Given the description of an element on the screen output the (x, y) to click on. 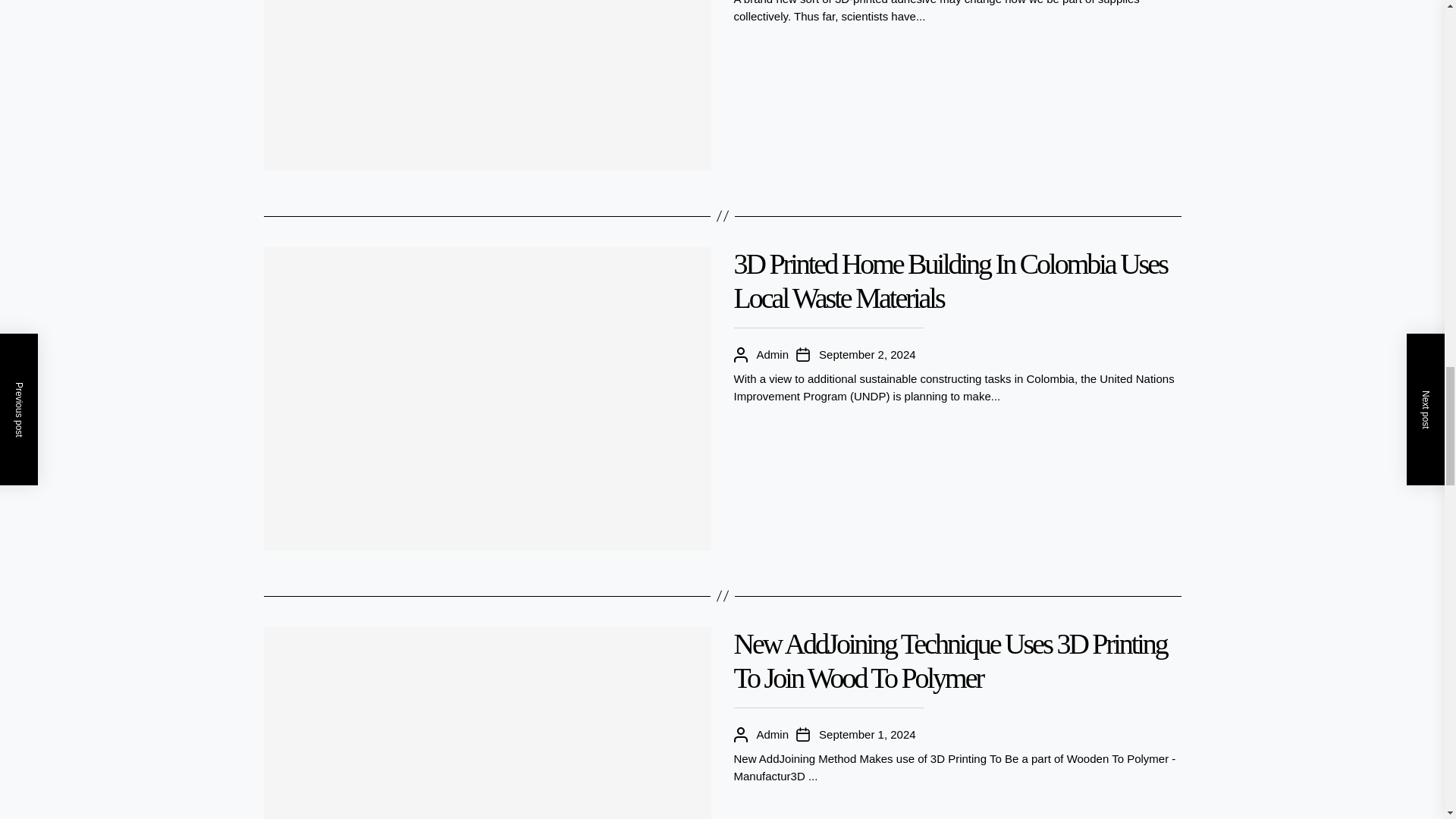
September 1, 2024 (866, 734)
September 2, 2024 (866, 354)
Admin (773, 734)
Admin (773, 354)
